Given the description of an element on the screen output the (x, y) to click on. 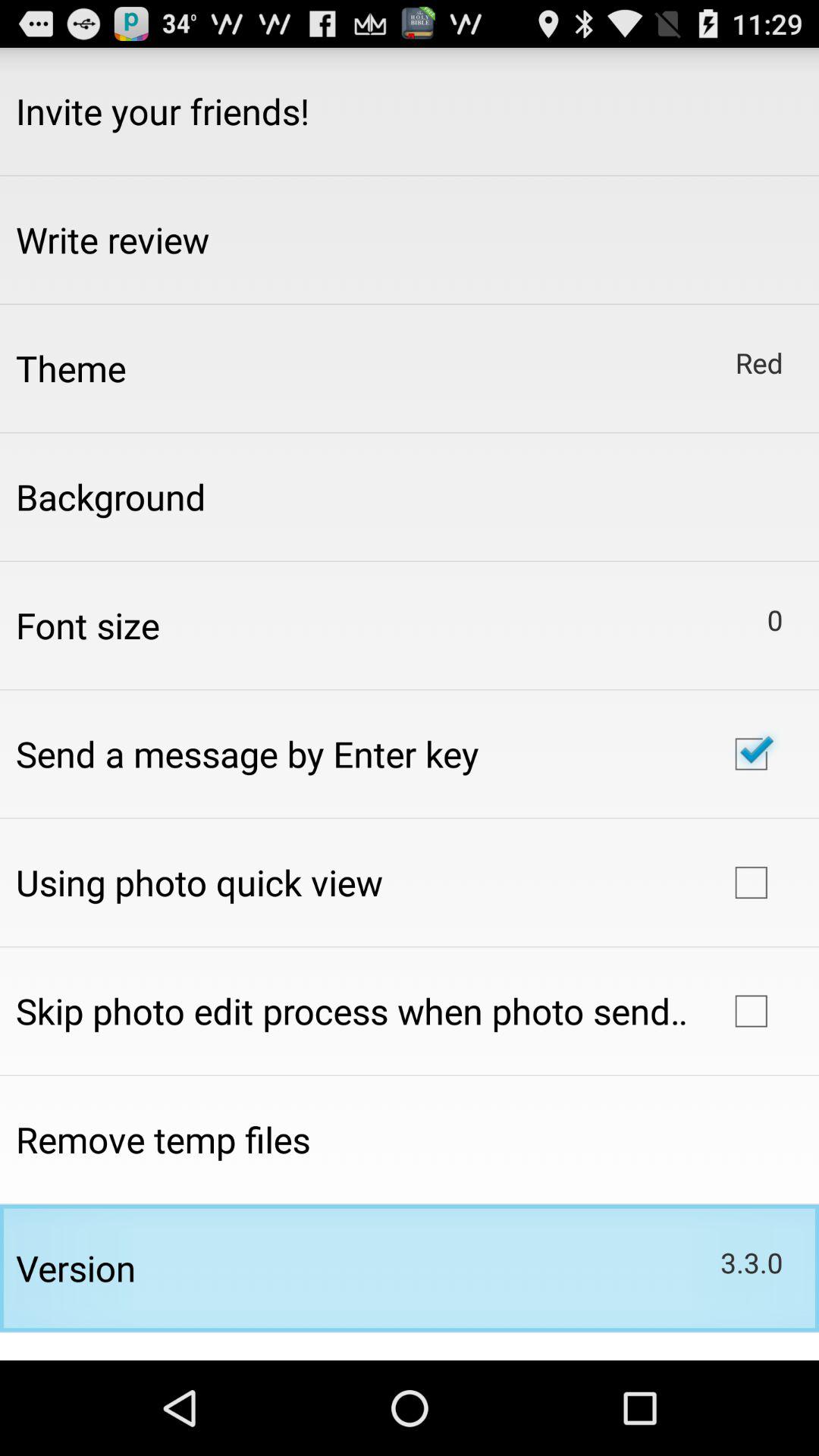
click the font size (87, 625)
